Given the description of an element on the screen output the (x, y) to click on. 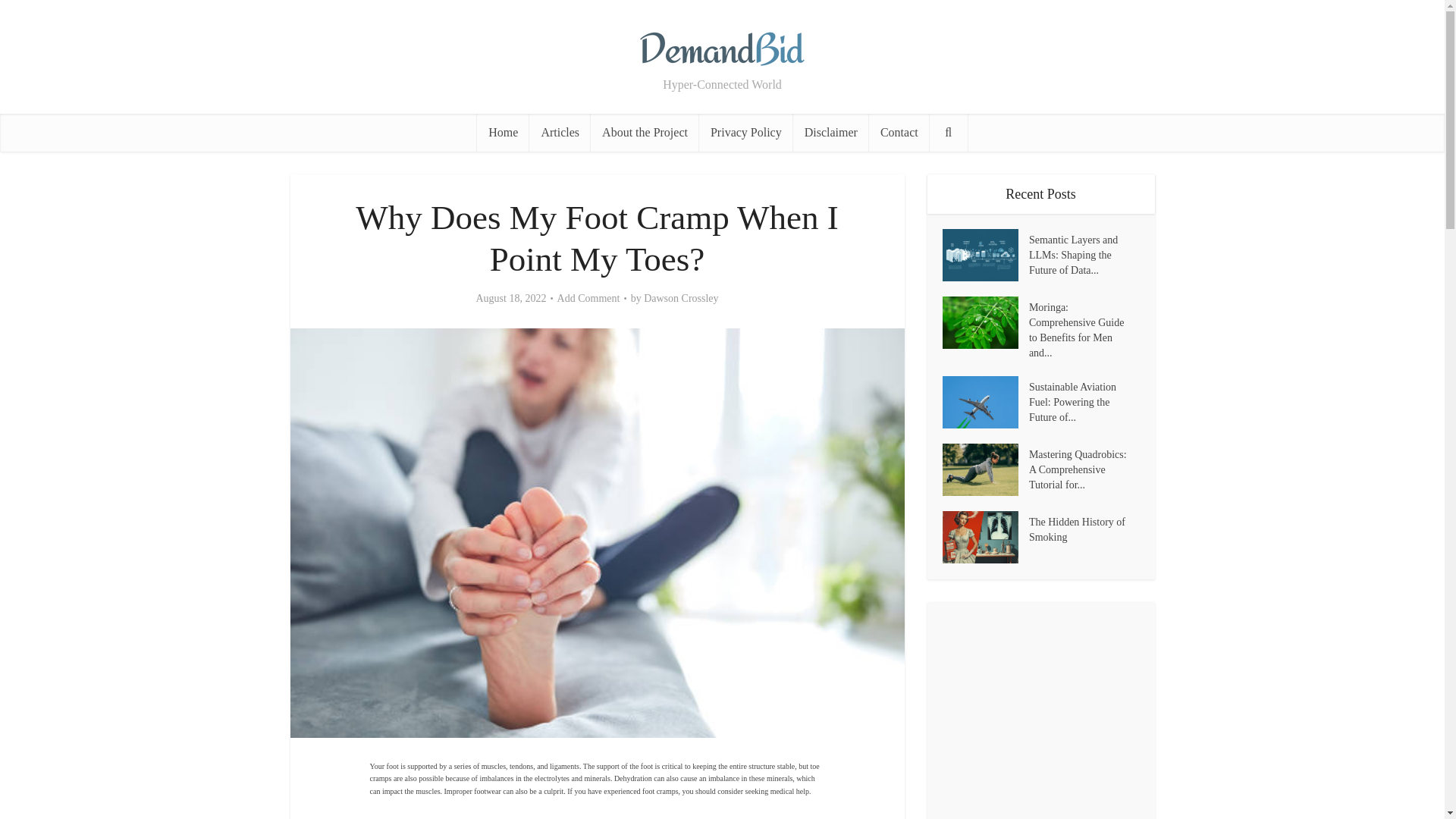
Dawson Crossley (680, 298)
Contact (899, 132)
Add Comment (588, 298)
Privacy Policy (745, 132)
Home (503, 132)
Disclaimer (831, 132)
About the Project (644, 132)
Articles (560, 132)
